Given the description of an element on the screen output the (x, y) to click on. 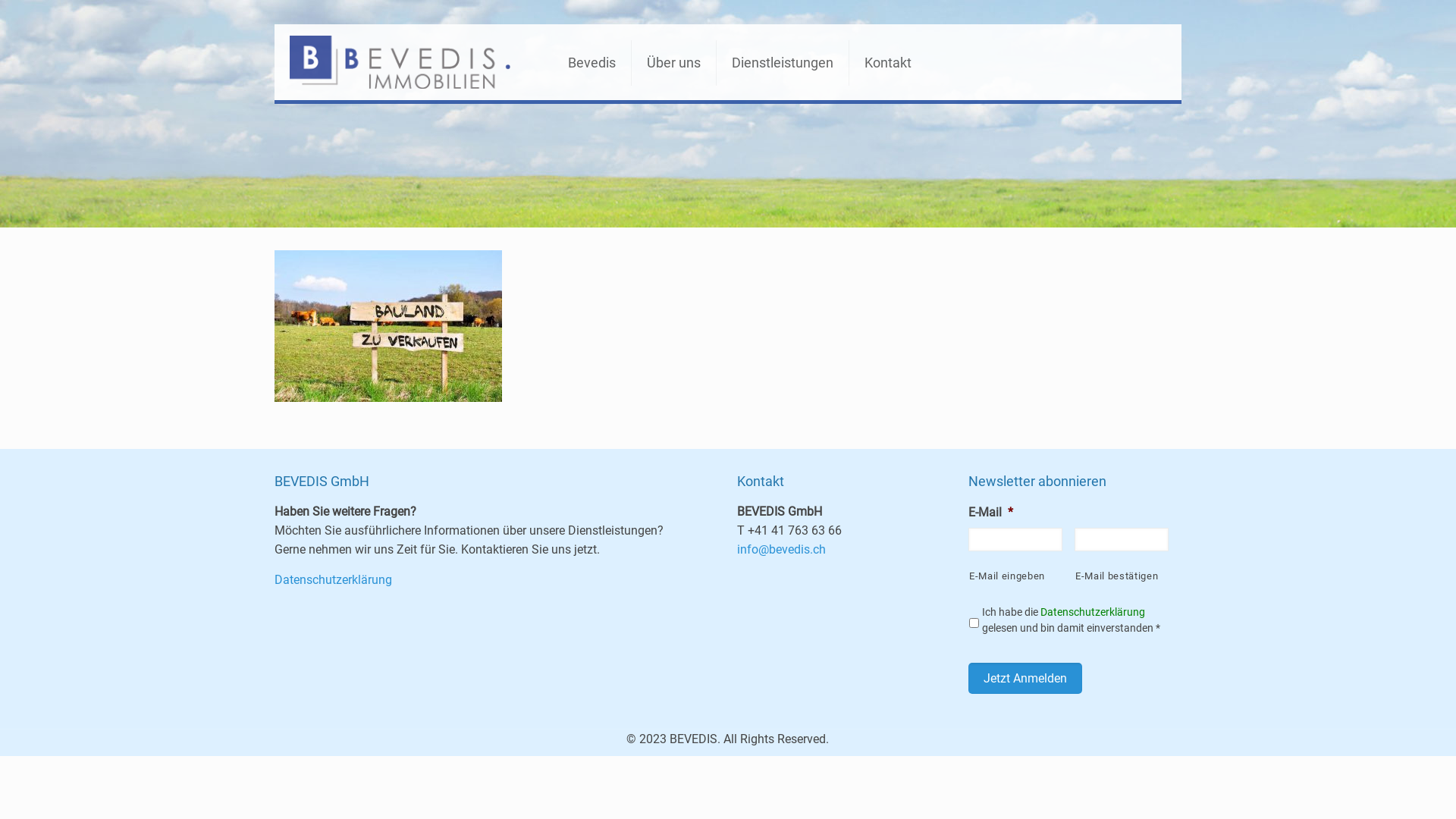
info@bevedis.ch Element type: text (781, 549)
Bevedis Element type: text (591, 62)
Dienstleistungen Element type: text (782, 62)
Jetzt Anmelden Element type: text (1025, 677)
BEVEDIS Element type: hover (400, 62)
Kontakt Element type: text (887, 62)
